Given the description of an element on the screen output the (x, y) to click on. 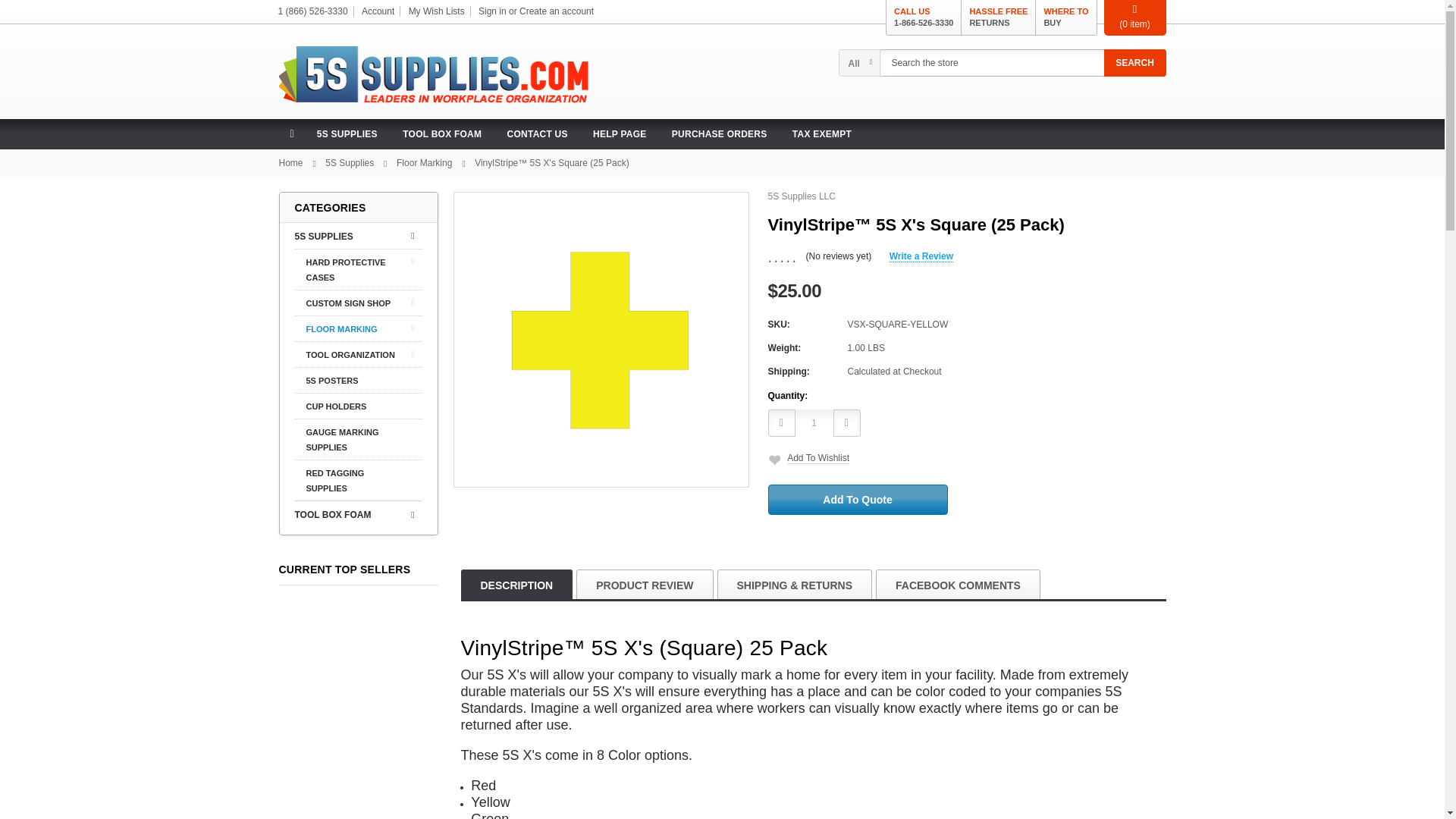
SEARCH (1134, 62)
5S Supplies LLC (434, 75)
Account (377, 10)
My Wish Lists (436, 10)
Sign in (492, 10)
5S SUPPLIES (1065, 17)
Create an account (923, 17)
